Given the description of an element on the screen output the (x, y) to click on. 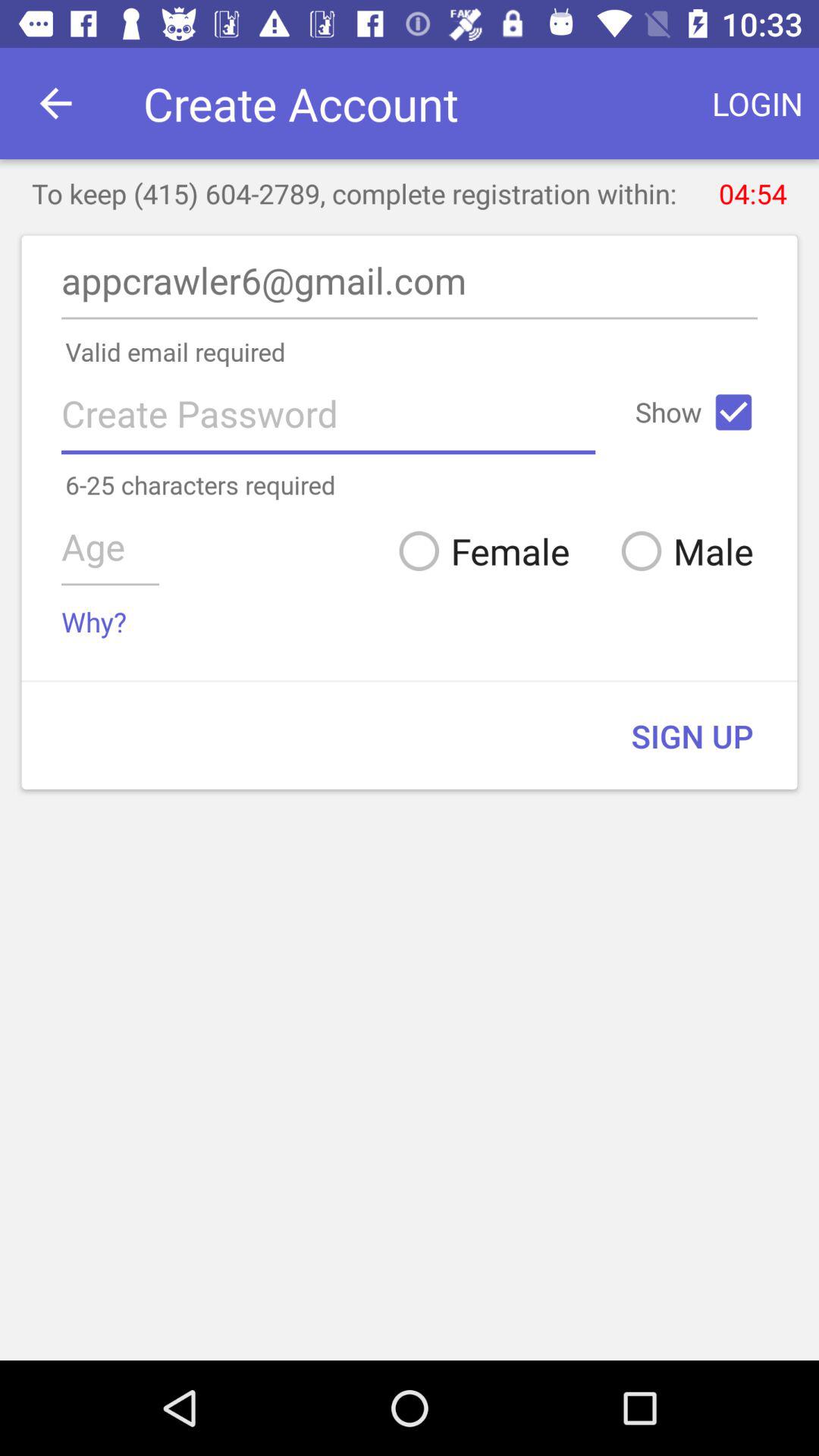
turn on sign up item (692, 735)
